Given the description of an element on the screen output the (x, y) to click on. 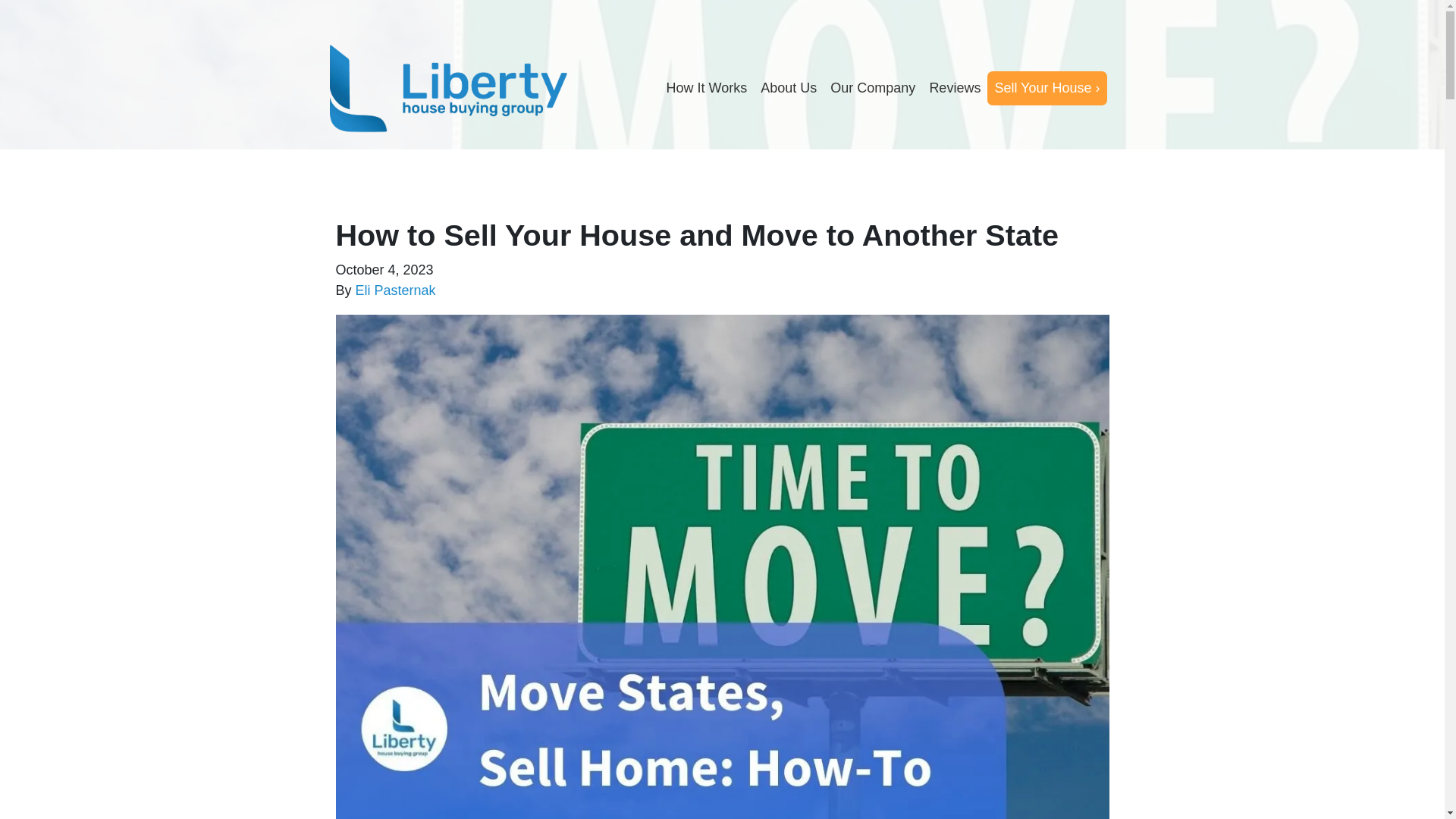
About Us (789, 88)
How It Works (706, 88)
How It Works (706, 88)
Our Company (872, 88)
Reviews (954, 88)
Reviews (954, 88)
Eli Pasternak (395, 290)
About Us (789, 88)
Our Company (872, 88)
